Given the description of an element on the screen output the (x, y) to click on. 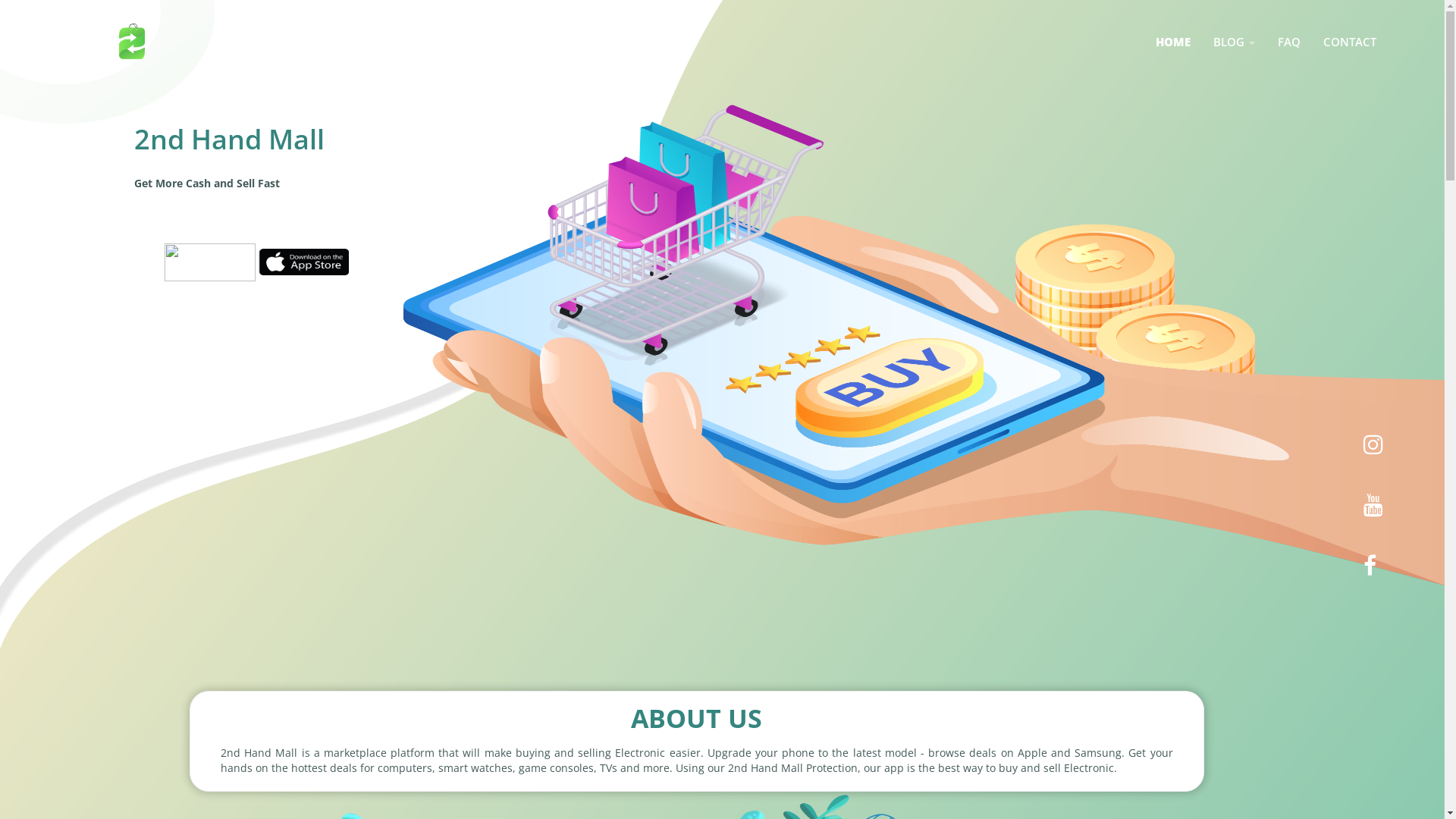
HOME Element type: text (1172, 41)
FAQ Element type: text (1288, 41)
CONTACT Element type: text (1349, 41)
BLOG  Element type: text (1233, 41)
